Given the description of an element on the screen output the (x, y) to click on. 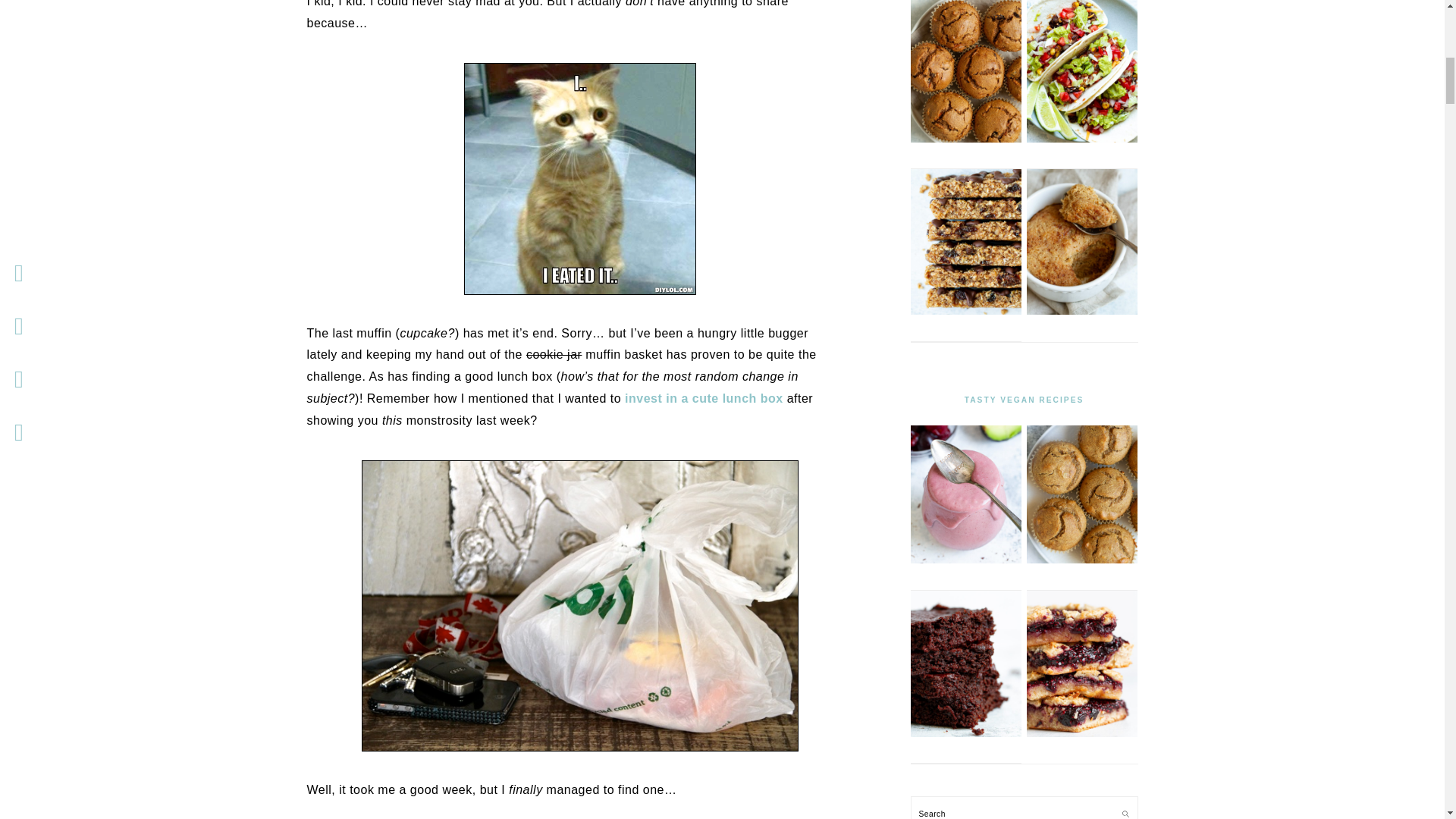
cherry avocado smoothie (965, 559)
cherry almond oat bars (1081, 733)
easy morning glory muffins (965, 138)
black bean taco filling (1081, 138)
flourless vegan brownies (965, 733)
soft and chewy granola bars (965, 310)
two minute banana muffin (1081, 310)
healthy banana nut muffins (1081, 559)
invest in a cute lunch box (703, 398)
